Given the description of an element on the screen output the (x, y) to click on. 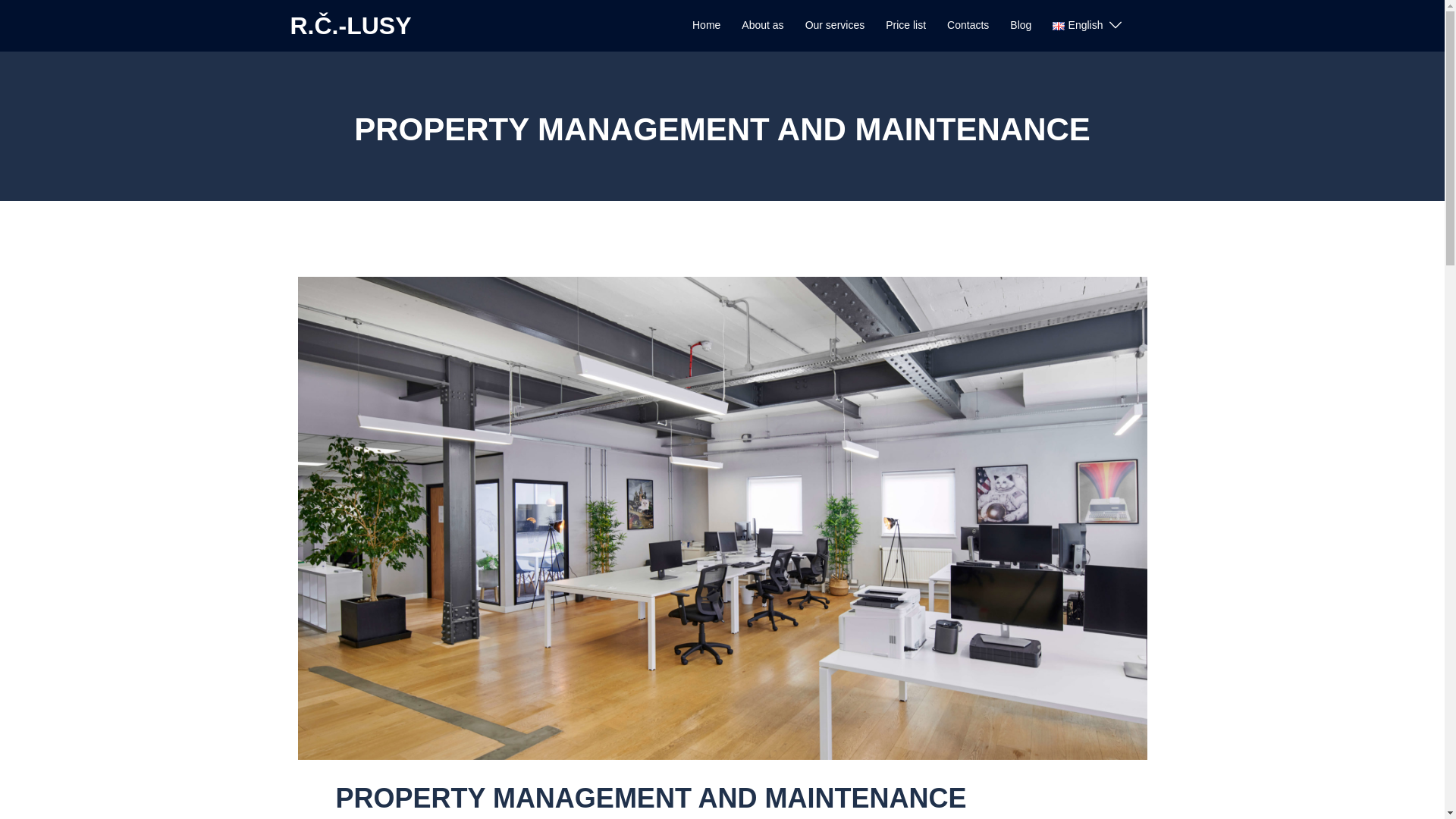
Home (706, 25)
Price list (905, 25)
About as (762, 25)
Blog (1020, 25)
Contacts (967, 25)
English (1077, 25)
Our services (834, 25)
